Given the description of an element on the screen output the (x, y) to click on. 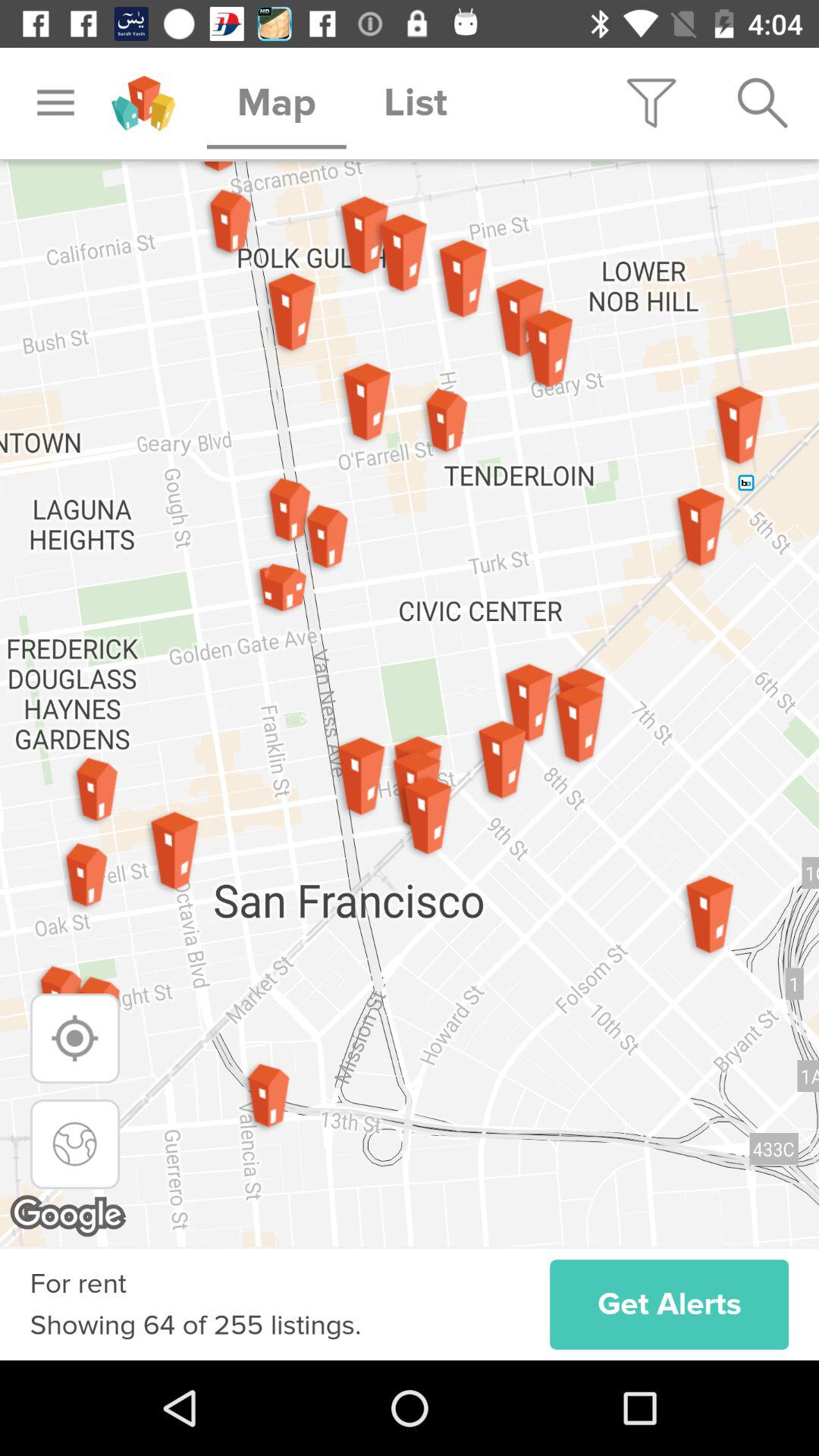
zoom to location (75, 1038)
